Given the description of an element on the screen output the (x, y) to click on. 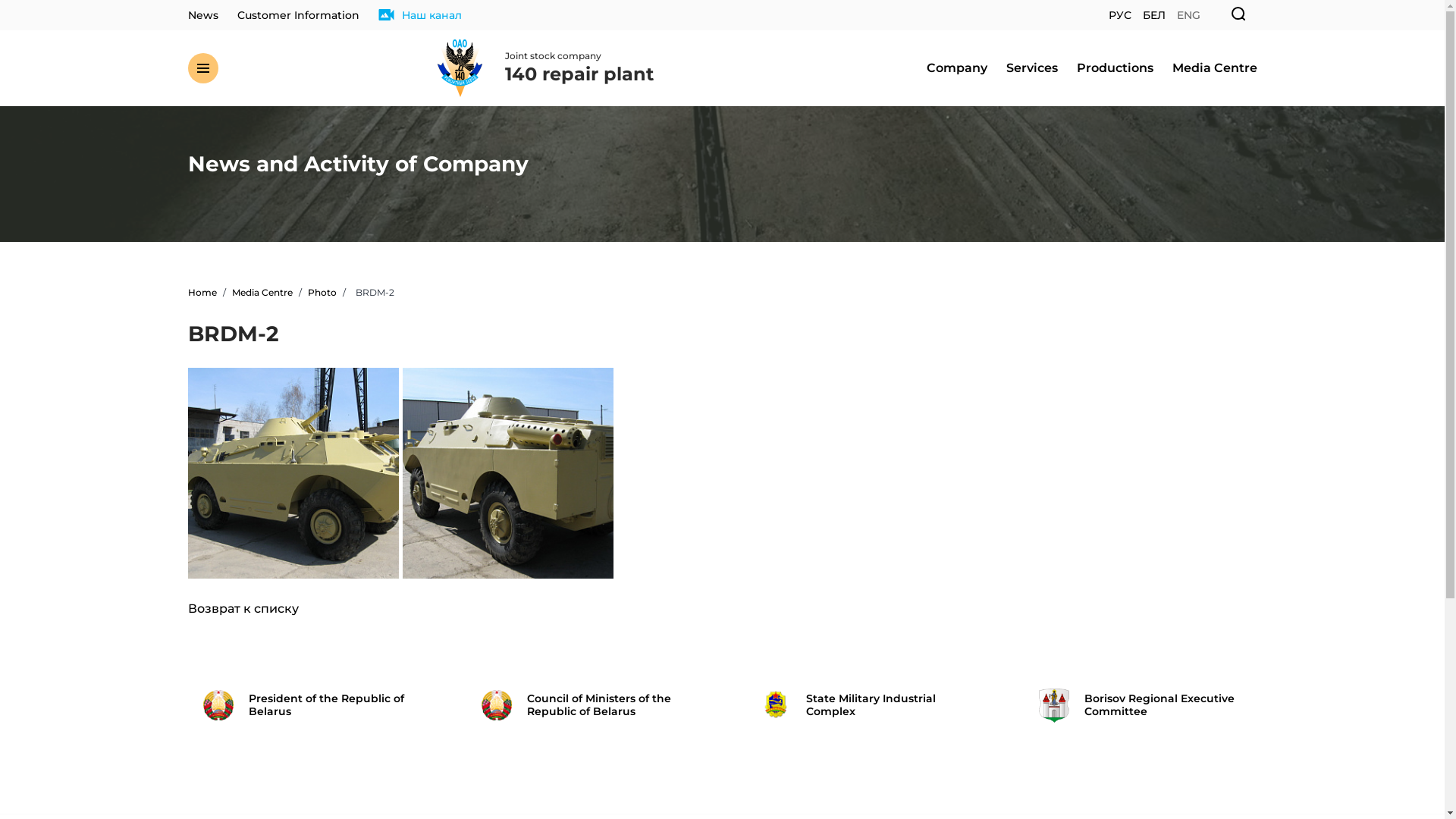
Media Centre Element type: text (1214, 67)
Services Element type: text (1031, 67)
Customer Information Element type: text (297, 15)
Borisov Regional Executive Committee Element type: text (1140, 705)
State Military Industrial Complex Element type: text (861, 705)
News Element type: text (203, 15)
Productions Element type: text (1114, 67)
Company Element type: text (956, 67)
Joint stock company
140 repair plant Element type: text (545, 68)
Photo Element type: text (321, 292)
Media Centre Element type: text (262, 292)
Council of Ministers of the Republic of Belarus Element type: text (582, 705)
Home Element type: text (202, 292)
President of the Republic of Belarus Element type: text (304, 705)
